Given the description of an element on the screen output the (x, y) to click on. 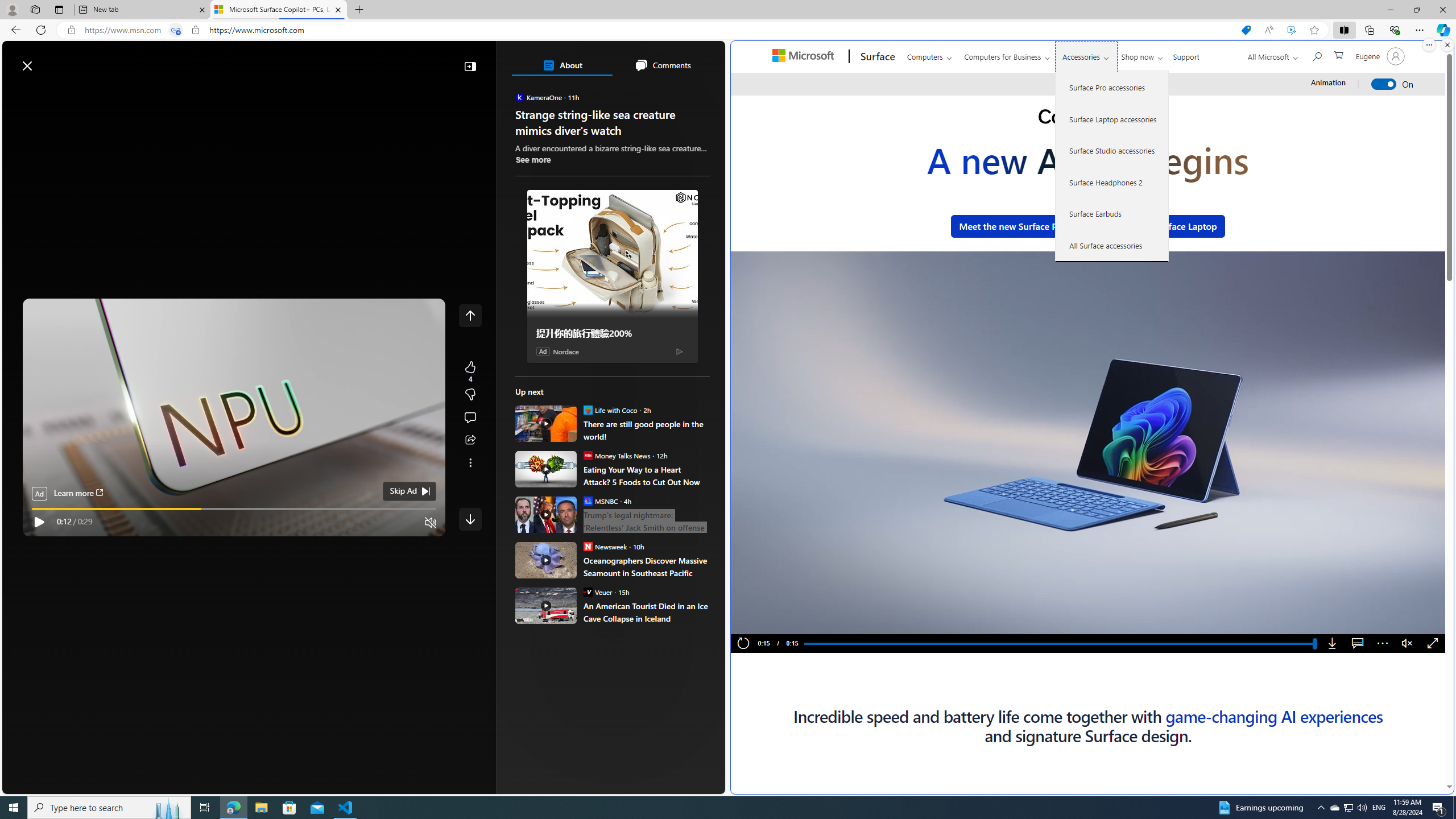
Money Talks News (587, 455)
Enter your search term (366, 59)
Enhance video (1291, 29)
KameraOne (519, 96)
Watch (145, 92)
All Surface accessories (1112, 245)
Class: control icon-only (469, 315)
About (561, 64)
